Given the description of an element on the screen output the (x, y) to click on. 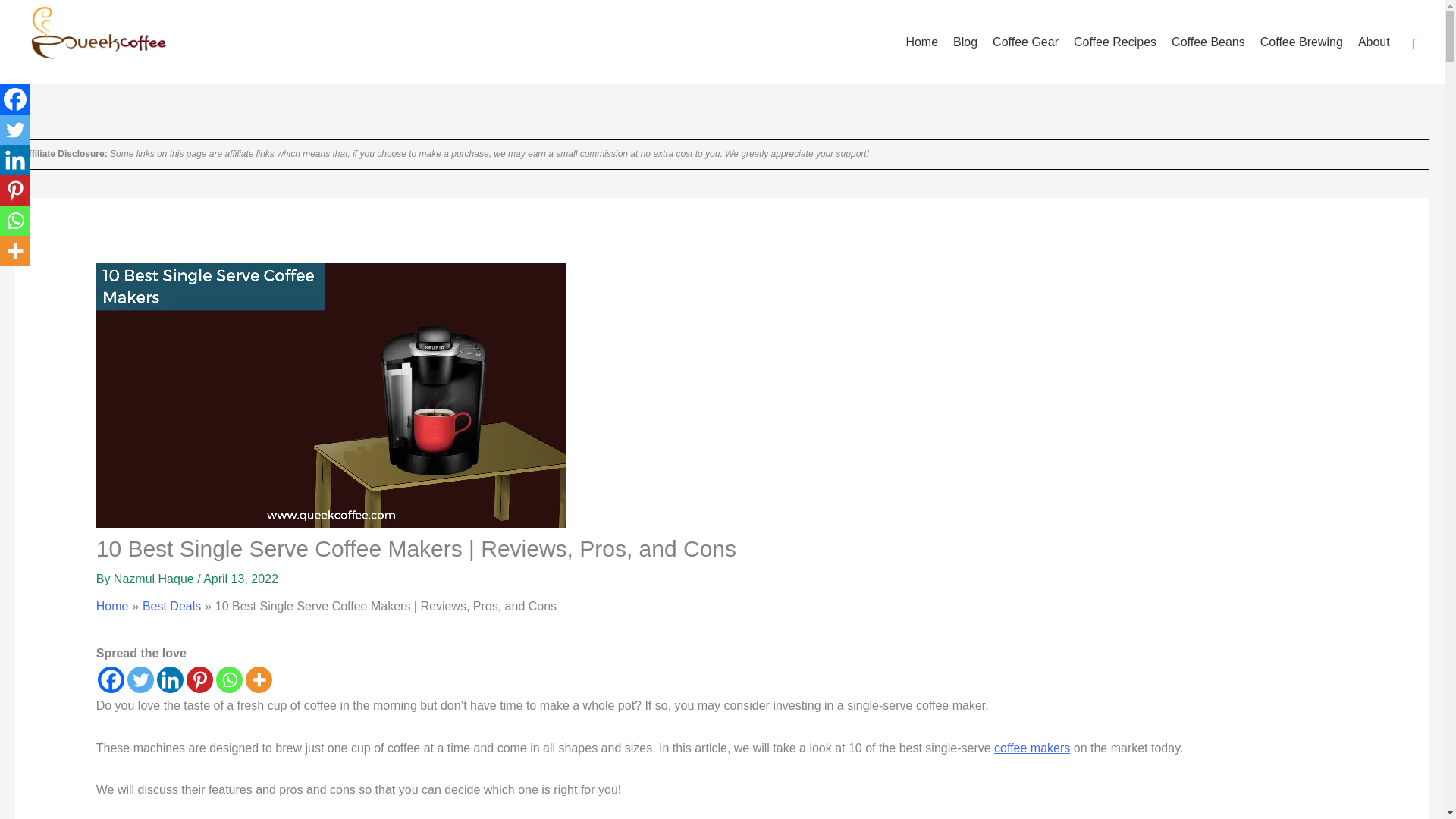
Nazmul Haque (154, 578)
Coffee Brewing (1301, 42)
Pinterest (199, 679)
View all posts by Nazmul Haque (154, 578)
About (1374, 42)
Coffee Gear (1025, 42)
Blog (964, 42)
Whatsapp (229, 679)
Best Deals (171, 605)
Coffee Beans (1207, 42)
Facebook (110, 679)
Twitter (141, 679)
Home (112, 605)
Home (921, 42)
Linkedin (170, 679)
